Given the description of an element on the screen output the (x, y) to click on. 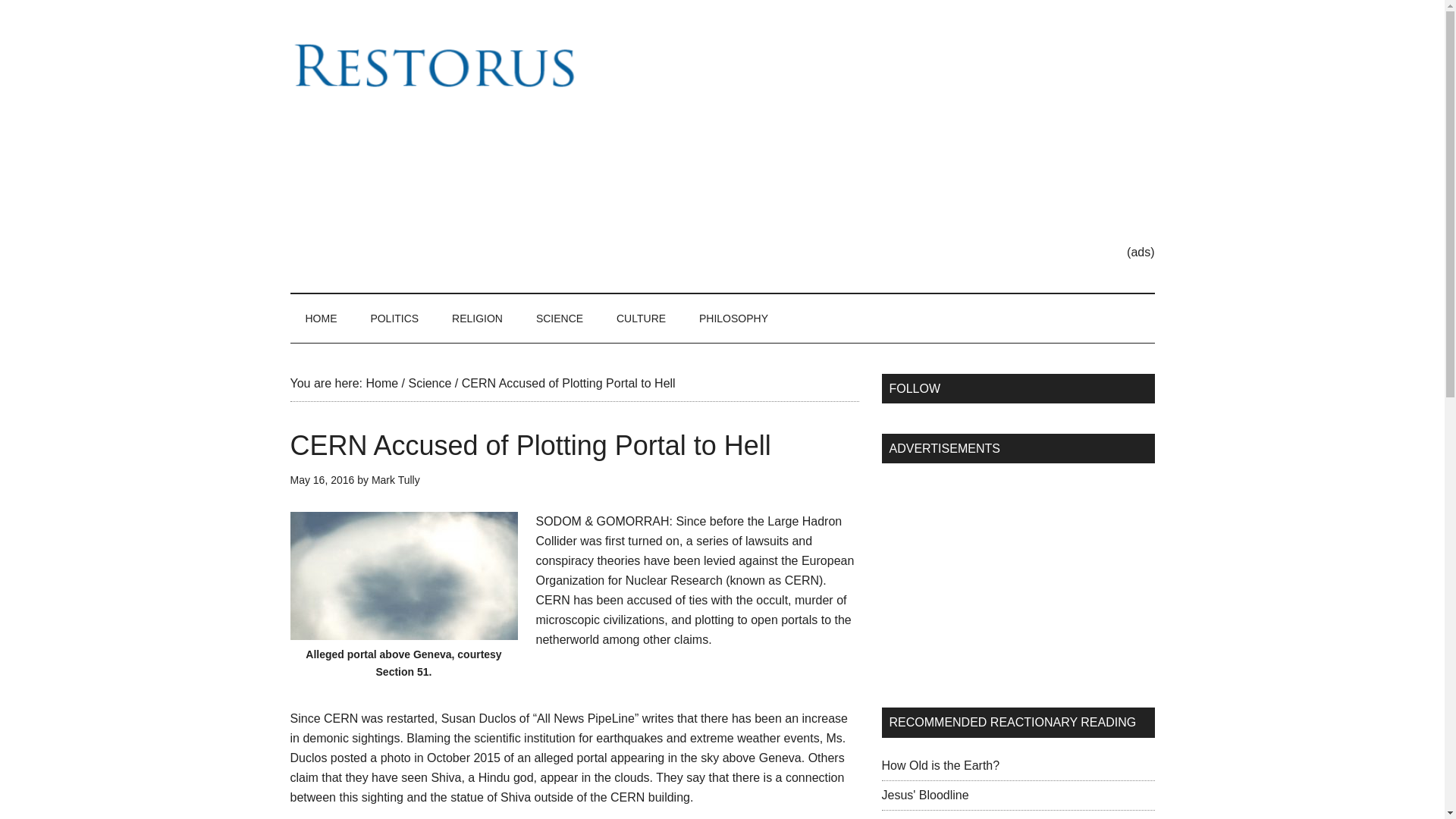
How Old is the Earth? (939, 765)
Advertisement (994, 575)
Advertisement (878, 136)
Mark Tully (395, 480)
POLITICS (394, 318)
CULTURE (641, 318)
Home (381, 382)
SCIENCE (559, 318)
Science (429, 382)
